Given the description of an element on the screen output the (x, y) to click on. 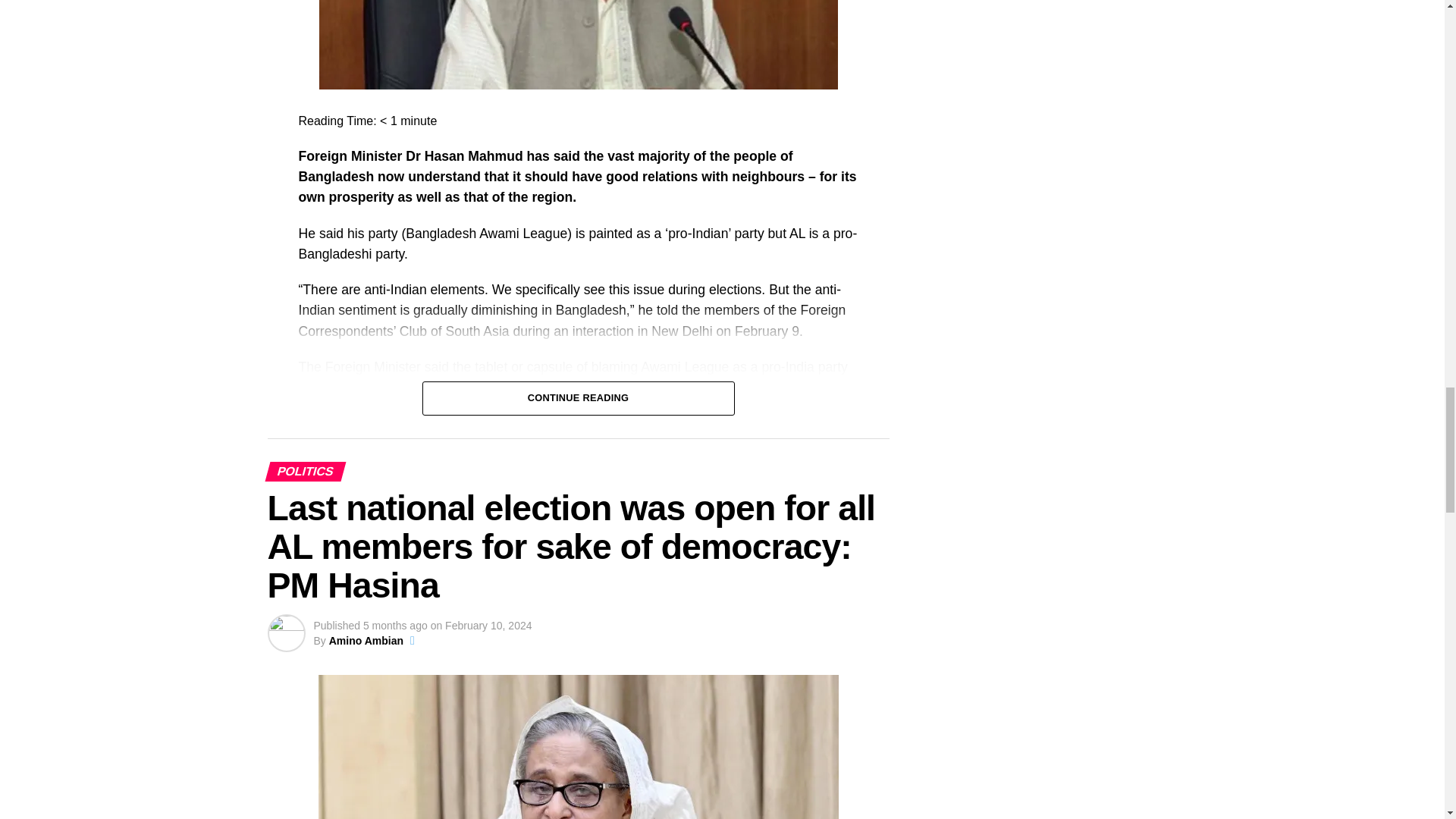
Posts by Amino Ambian (366, 640)
